Given the description of an element on the screen output the (x, y) to click on. 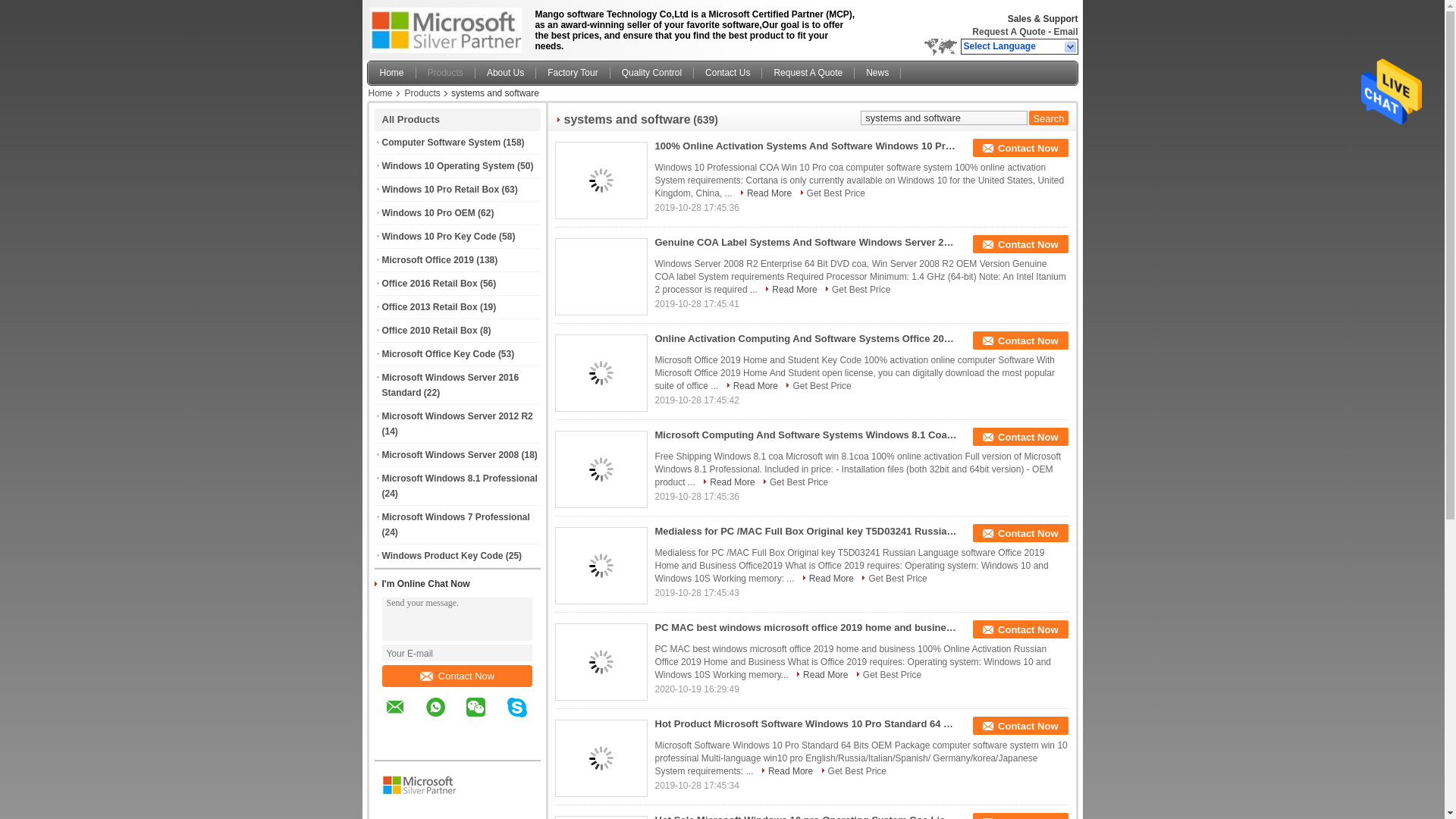
Mango software Technology Co,Ltd (1008, 31)
Windows 10 Operating System (448, 165)
Search (1048, 117)
News (877, 72)
Contact Us (727, 72)
Home (392, 72)
Products (446, 72)
Request A Quote (1008, 31)
Quality Control (652, 72)
Windows 10 Pro Retail Box (440, 189)
